Given the description of an element on the screen output the (x, y) to click on. 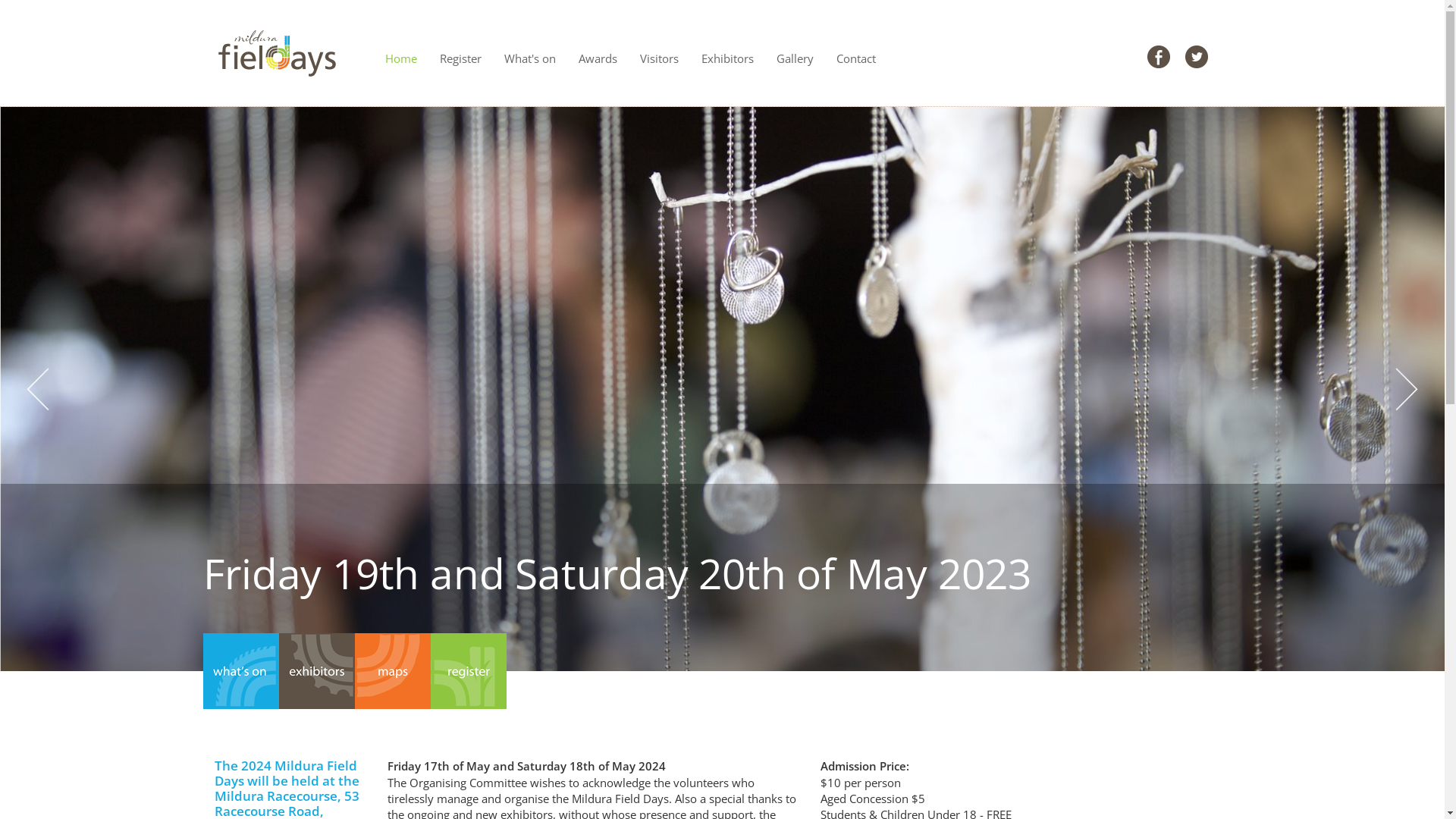
Contact Element type: text (856, 53)
Home Element type: text (400, 53)
Register Element type: text (459, 53)
Visitors Element type: text (658, 53)
Exhibitors Element type: text (727, 53)
Awards Element type: text (597, 53)
What's on Element type: text (529, 53)
Gallery Element type: text (794, 53)
Friday 19th and Saturday 20th of May 2023 Element type: text (620, 573)
